Given the description of an element on the screen output the (x, y) to click on. 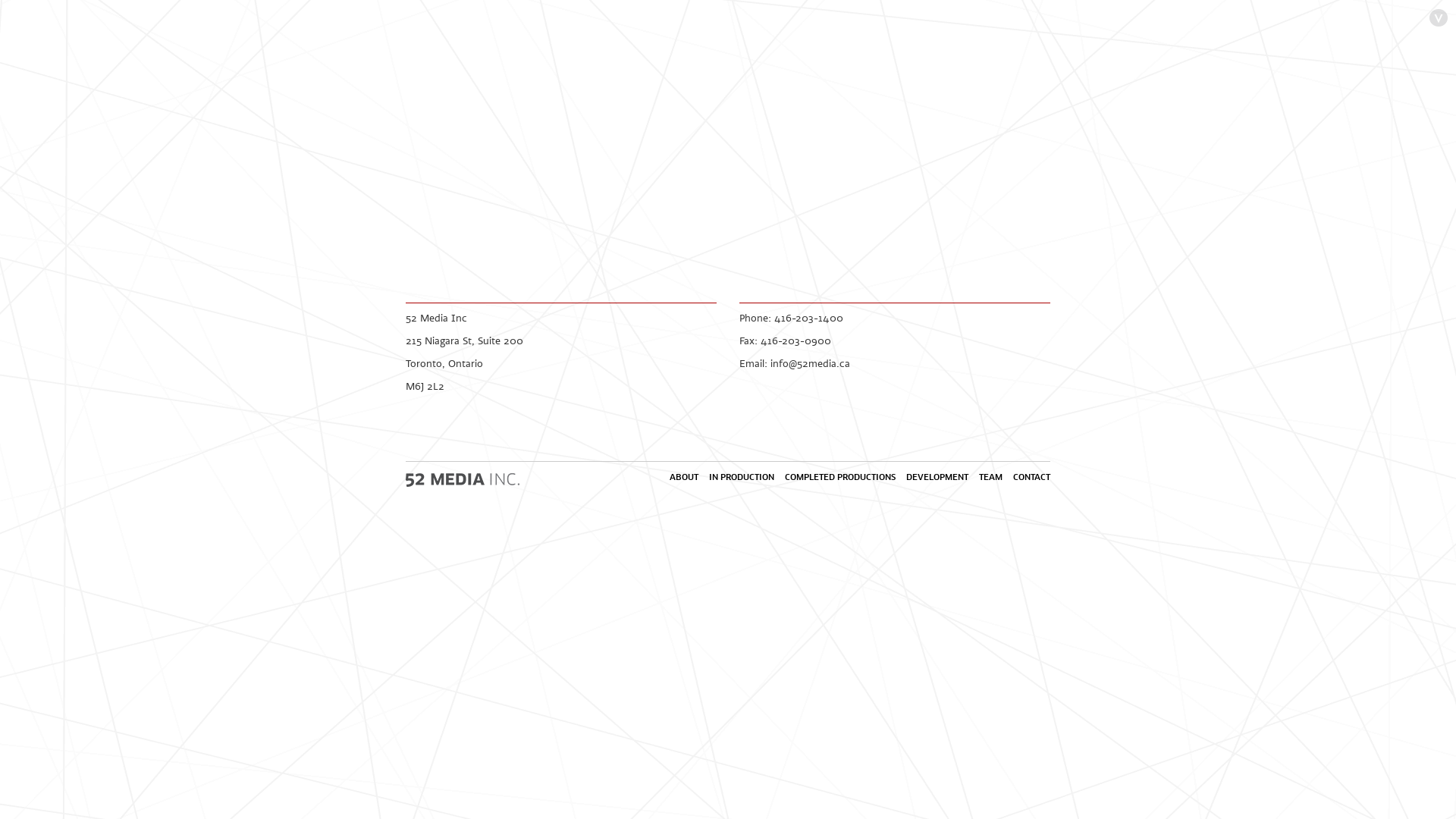
TEAM Element type: text (990, 476)
Visual Inclination Logo Element type: text (1438, 18)
info@52media.ca Element type: text (810, 363)
ABOUT Element type: text (683, 476)
DEVELOPMENT Element type: text (937, 476)
416-203-1400 Element type: text (808, 317)
COMPLETED PRODUCTIONS Element type: text (839, 476)
52 Media INC. Element type: text (462, 479)
CONTACT Element type: text (1031, 476)
IN PRODUCTION Element type: text (741, 476)
